Given the description of an element on the screen output the (x, y) to click on. 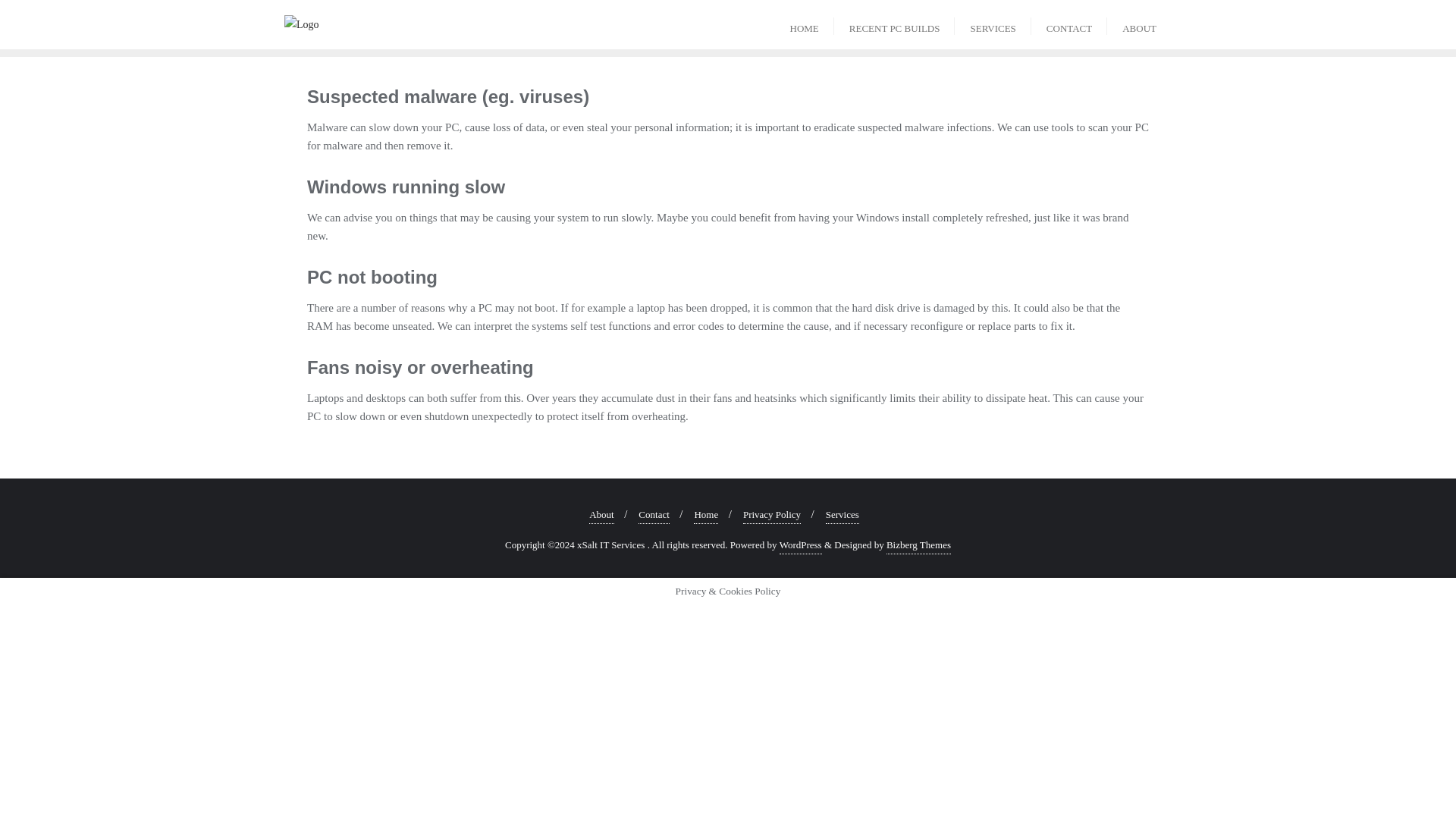
Home (705, 515)
Privacy Policy (771, 515)
CONTACT (1068, 24)
SERVICES (992, 24)
Contact (653, 515)
WordPress (800, 545)
ABOUT (1139, 24)
RECENT PC BUILDS (894, 24)
HOME (804, 24)
Bizberg Themes (918, 545)
About (601, 515)
Services (842, 515)
